Given the description of an element on the screen output the (x, y) to click on. 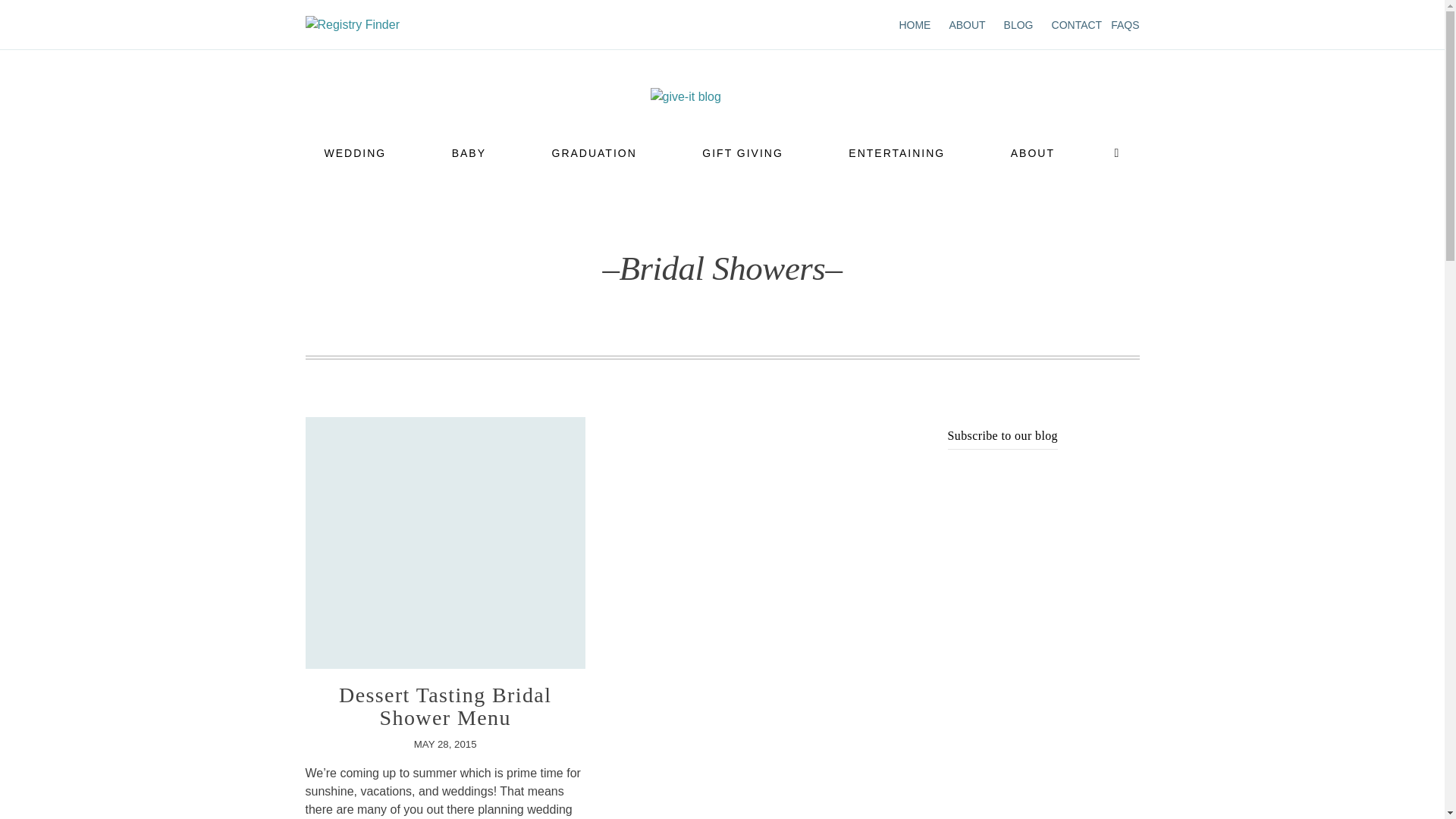
CONTACT (1076, 24)
ABOUT (967, 24)
Go (789, 81)
BLOG (1018, 24)
HOME (914, 24)
FAQS (1124, 24)
